Given the description of an element on the screen output the (x, y) to click on. 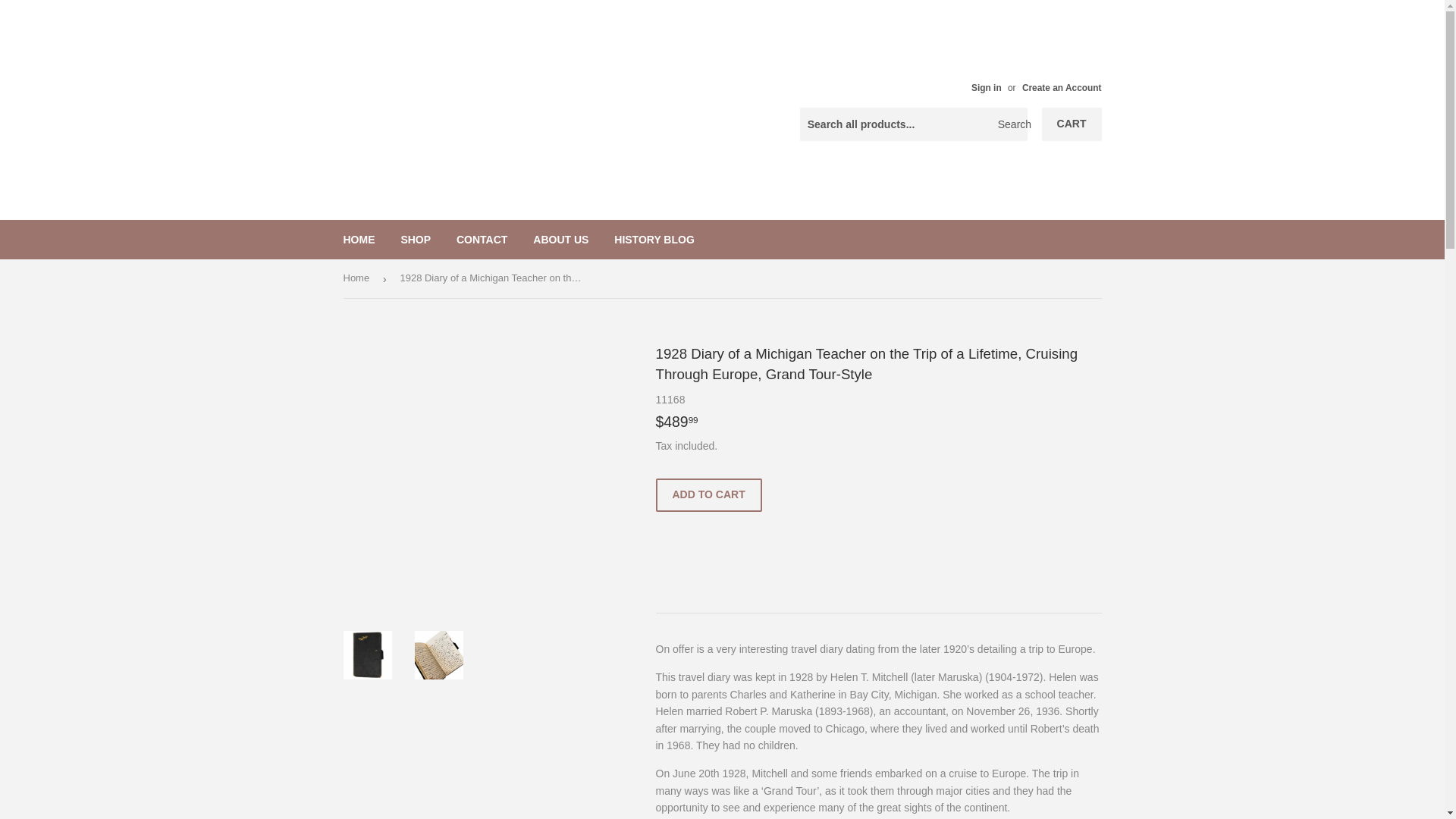
CART (1072, 123)
CONTACT (481, 239)
Search (1009, 124)
SHOP (415, 239)
HISTORY BLOG (654, 239)
Sign in (986, 87)
ABOUT US (560, 239)
HOME (359, 239)
ADD TO CART (708, 494)
Create an Account (1062, 87)
